Given the description of an element on the screen output the (x, y) to click on. 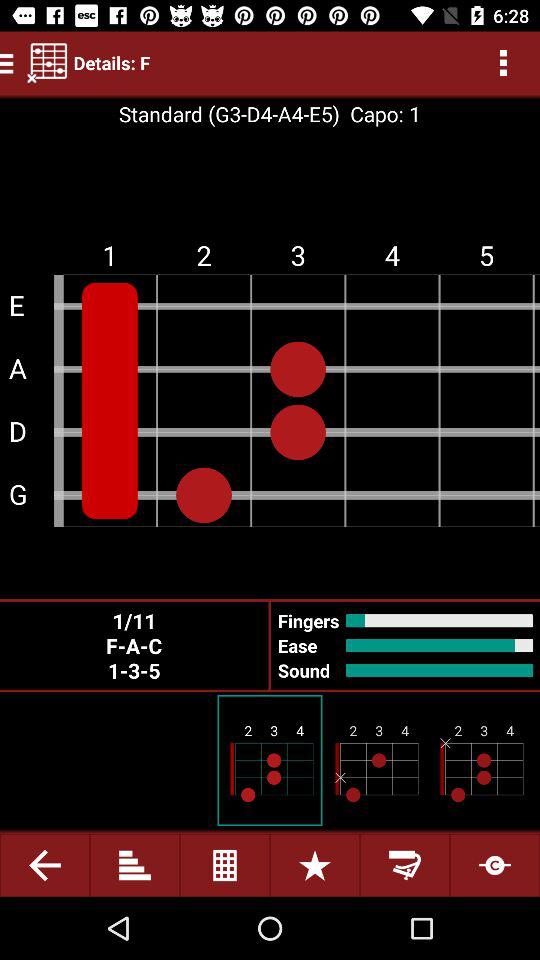
jump until capo: 1 icon (379, 113)
